Given the description of an element on the screen output the (x, y) to click on. 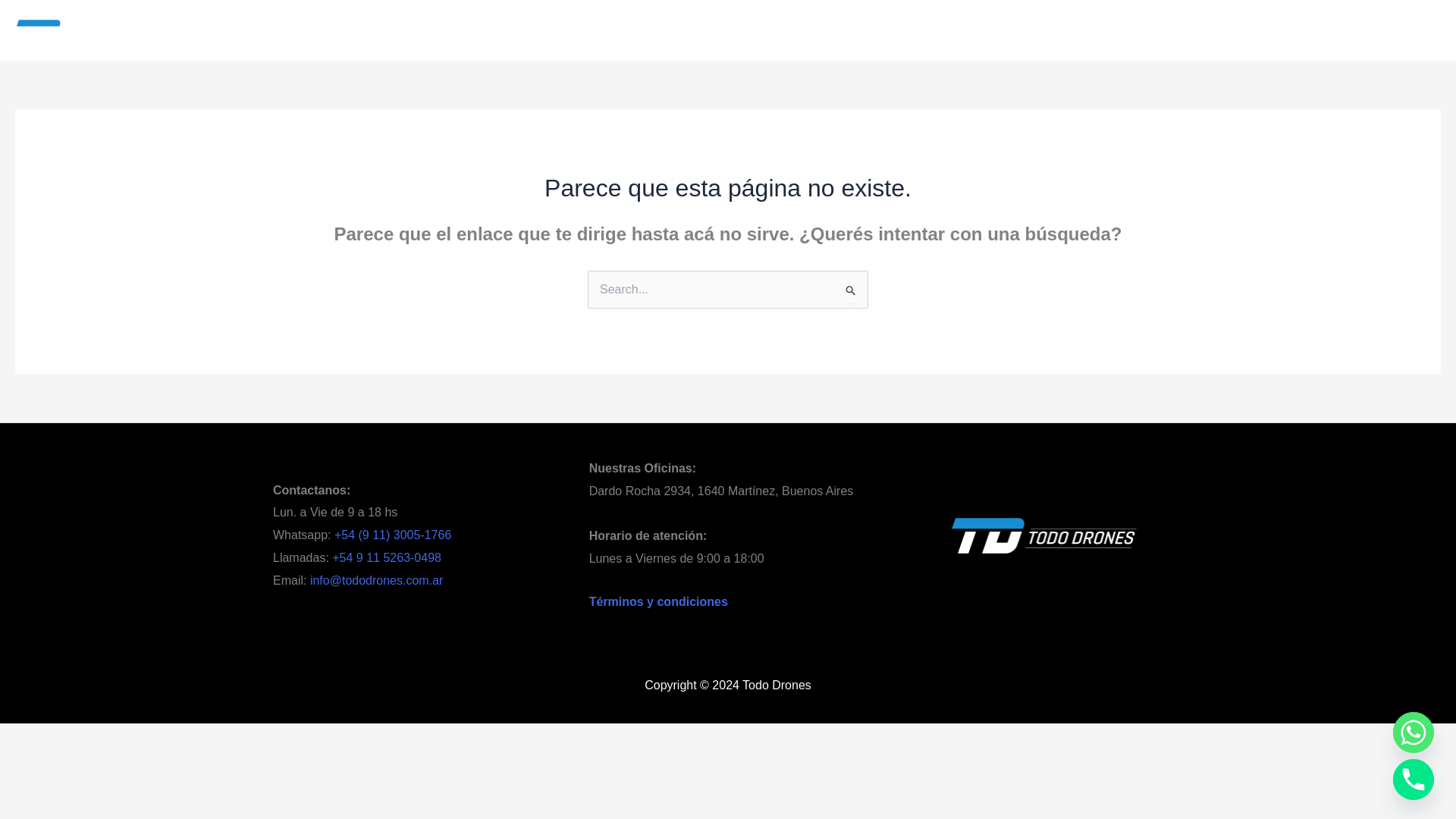
Drones (551, 30)
Agricultura (612, 30)
Empresariales (688, 30)
